Given the description of an element on the screen output the (x, y) to click on. 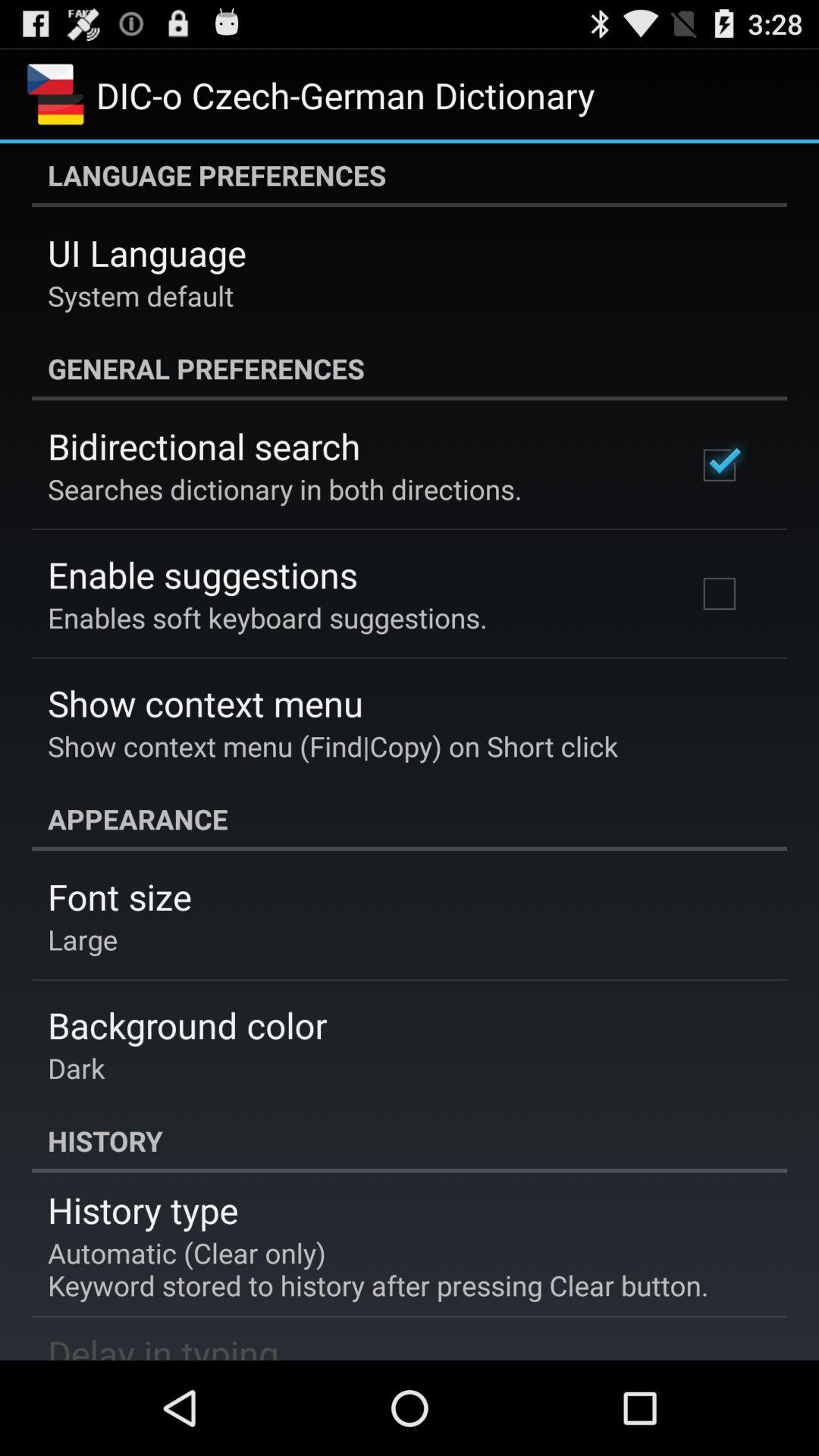
choose the app below the enable suggestions app (267, 617)
